Given the description of an element on the screen output the (x, y) to click on. 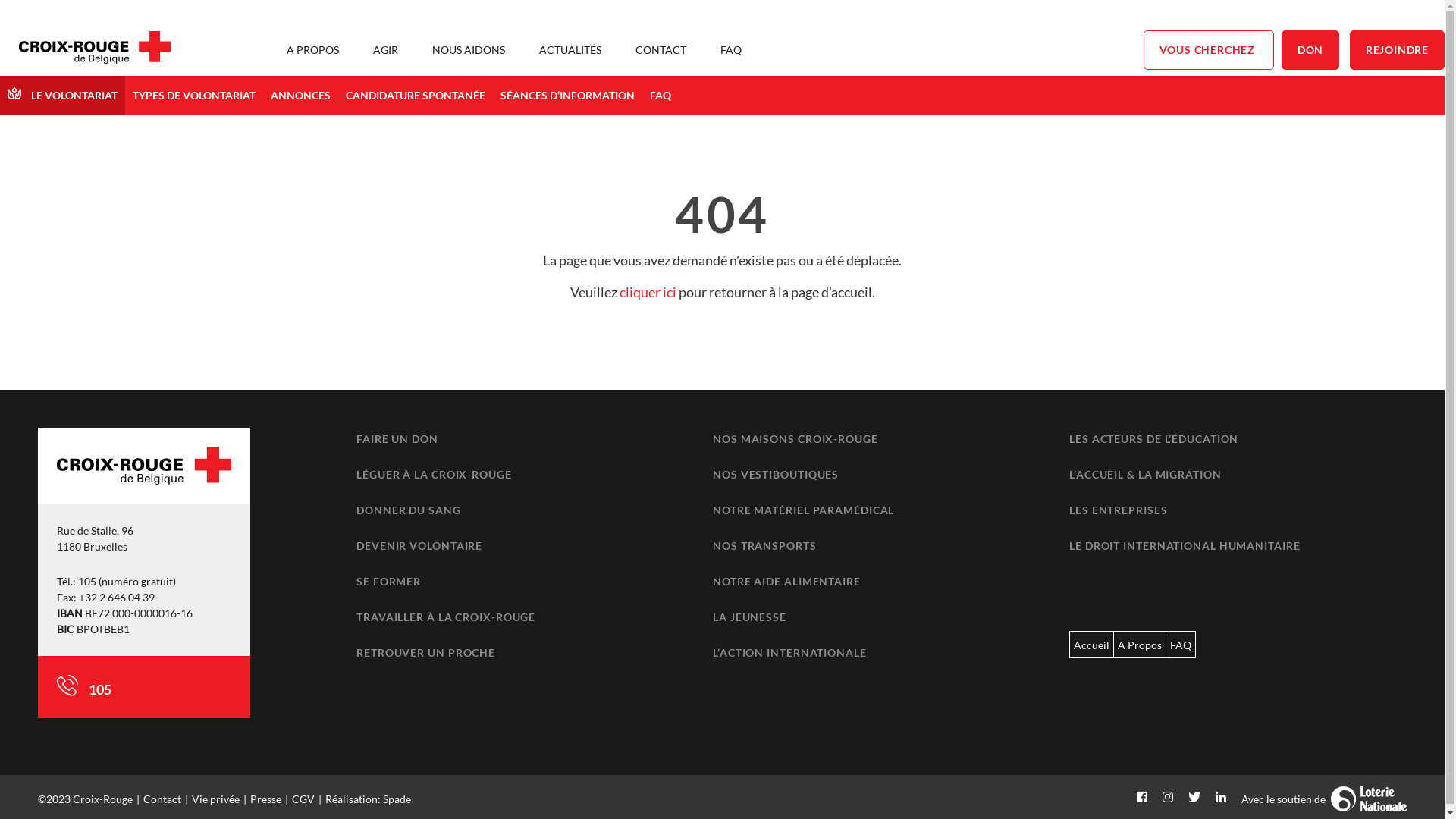
LES ENTREPRISES Element type: text (1118, 509)
NOS TRANSPORTS Element type: text (764, 545)
SE FORMER Element type: text (388, 580)
RETROUVER UN PROCHE Element type: text (425, 652)
NOS MAISONS CROIX-ROUGE Element type: text (795, 438)
Presse Element type: text (265, 798)
cliquer ici Element type: text (646, 292)
A PROPOS Element type: text (312, 49)
TYPES DE VOLONTARIAT Element type: text (194, 95)
CGV Element type: text (302, 798)
FAQ Element type: text (660, 95)
FAIRE UN DON Element type: text (397, 438)
Contact Element type: text (162, 798)
LE VOLONTARIAT Element type: text (62, 95)
Spade Element type: text (396, 798)
ANNONCES Element type: text (300, 95)
DEVENIR VOLONTAIRE Element type: text (419, 545)
Accueil Element type: text (1091, 644)
CONTACT Element type: text (660, 49)
FAQ Element type: text (1180, 644)
NOTRE AIDE ALIMENTAIRE Element type: text (786, 580)
AGIR Element type: text (385, 49)
NOUS AIDONS Element type: text (468, 49)
Avec le soutien de Element type: text (1323, 798)
LE DROIT INTERNATIONAL HUMANITAIRE Element type: text (1184, 545)
DON Element type: text (1310, 49)
A Propos Element type: text (1139, 644)
VOUS CHERCHEZ Element type: text (1208, 49)
DONNER DU SANG Element type: text (408, 509)
FAQ Element type: text (730, 49)
NOS VESTIBOUTIQUES Element type: text (775, 473)
105 Element type: text (98, 688)
LA JEUNESSE Element type: text (749, 616)
REJOINDRE Element type: text (1396, 49)
